Given the description of an element on the screen output the (x, y) to click on. 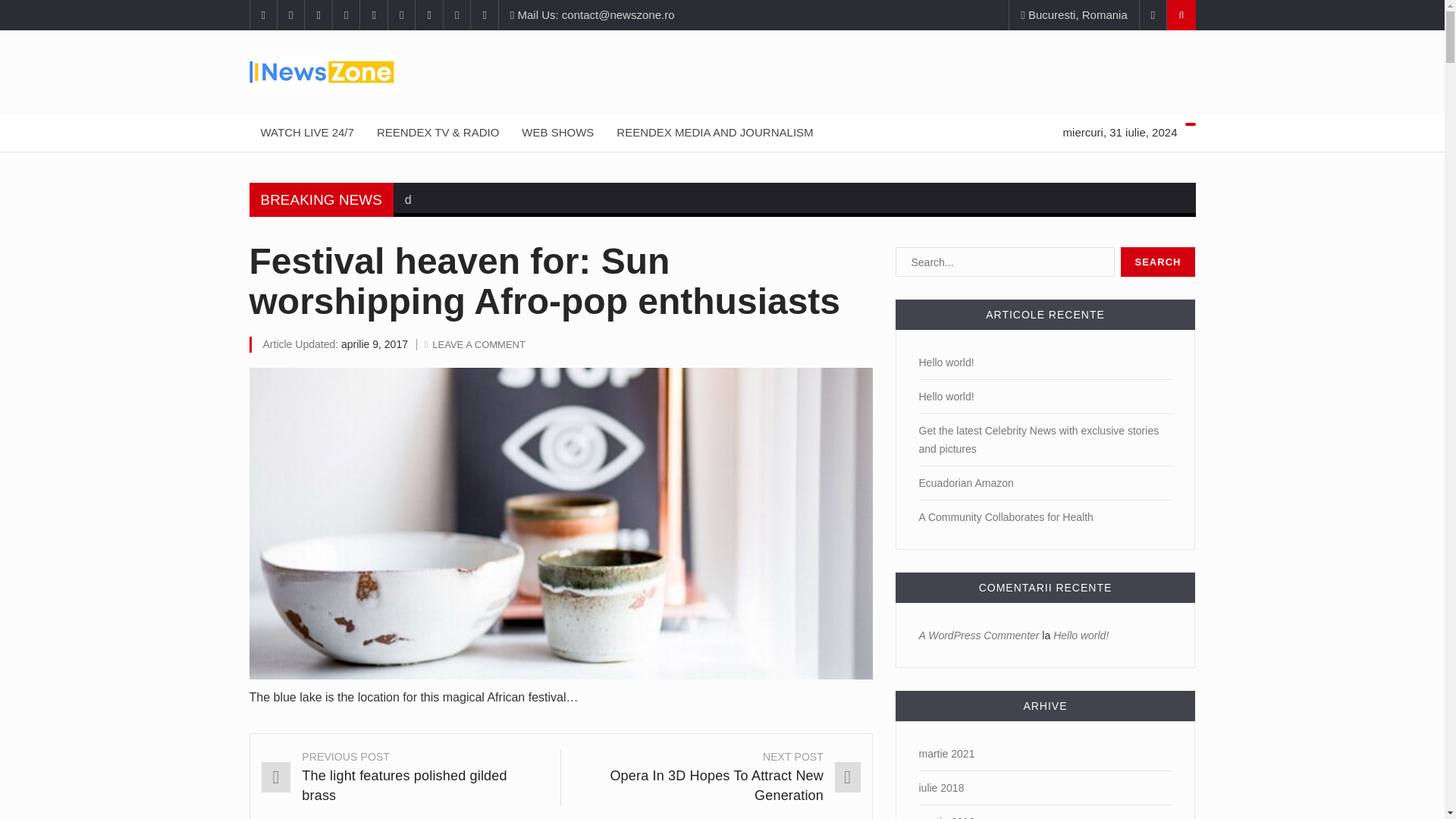
WEB SHOWS (558, 132)
Bucuresti, Romania (1073, 15)
Newszone (721, 71)
Search (1158, 261)
Search (1158, 261)
REENDEX MEDIA AND JOURNALISM (714, 132)
